Given the description of an element on the screen output the (x, y) to click on. 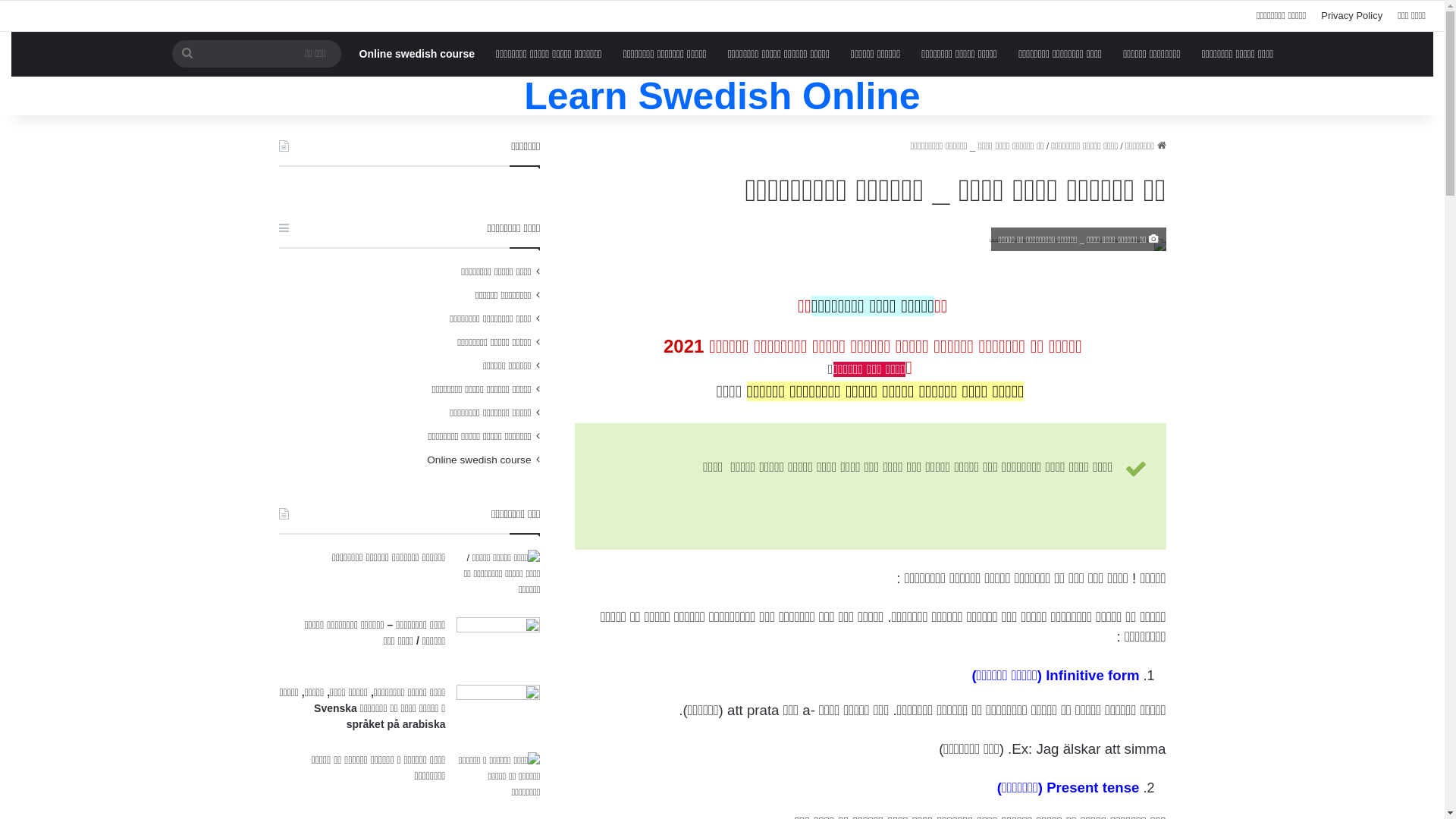
Online swedish course Element type: text (478, 459)
Online swedish course Element type: text (417, 53)
Privacy Policy Element type: text (1351, 15)
Learn Swedish Online Element type: text (722, 96)
